Given the description of an element on the screen output the (x, y) to click on. 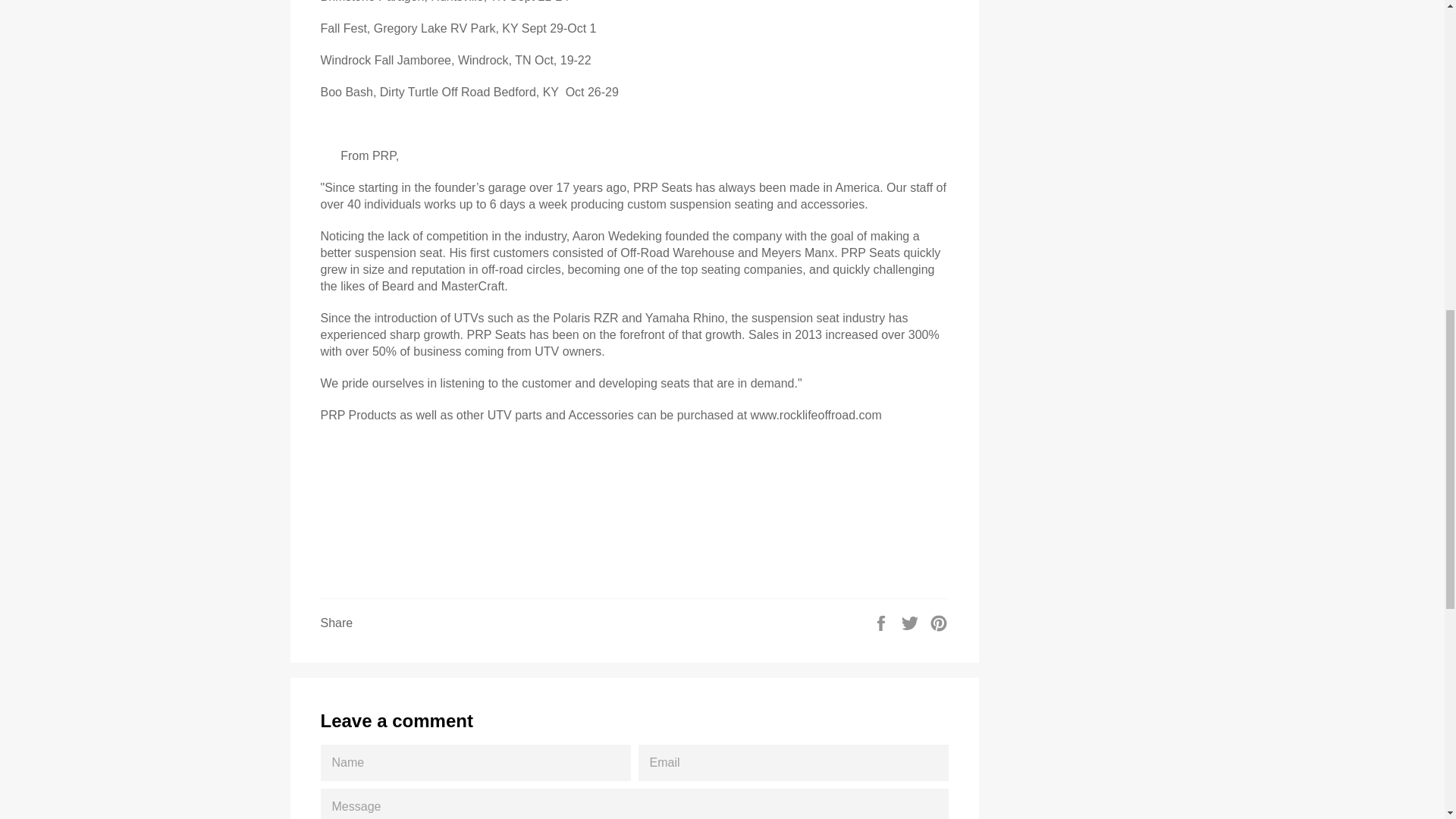
Tweet on Twitter (911, 621)
Share on Facebook (882, 621)
Pin on Pinterest (938, 621)
